Given the description of an element on the screen output the (x, y) to click on. 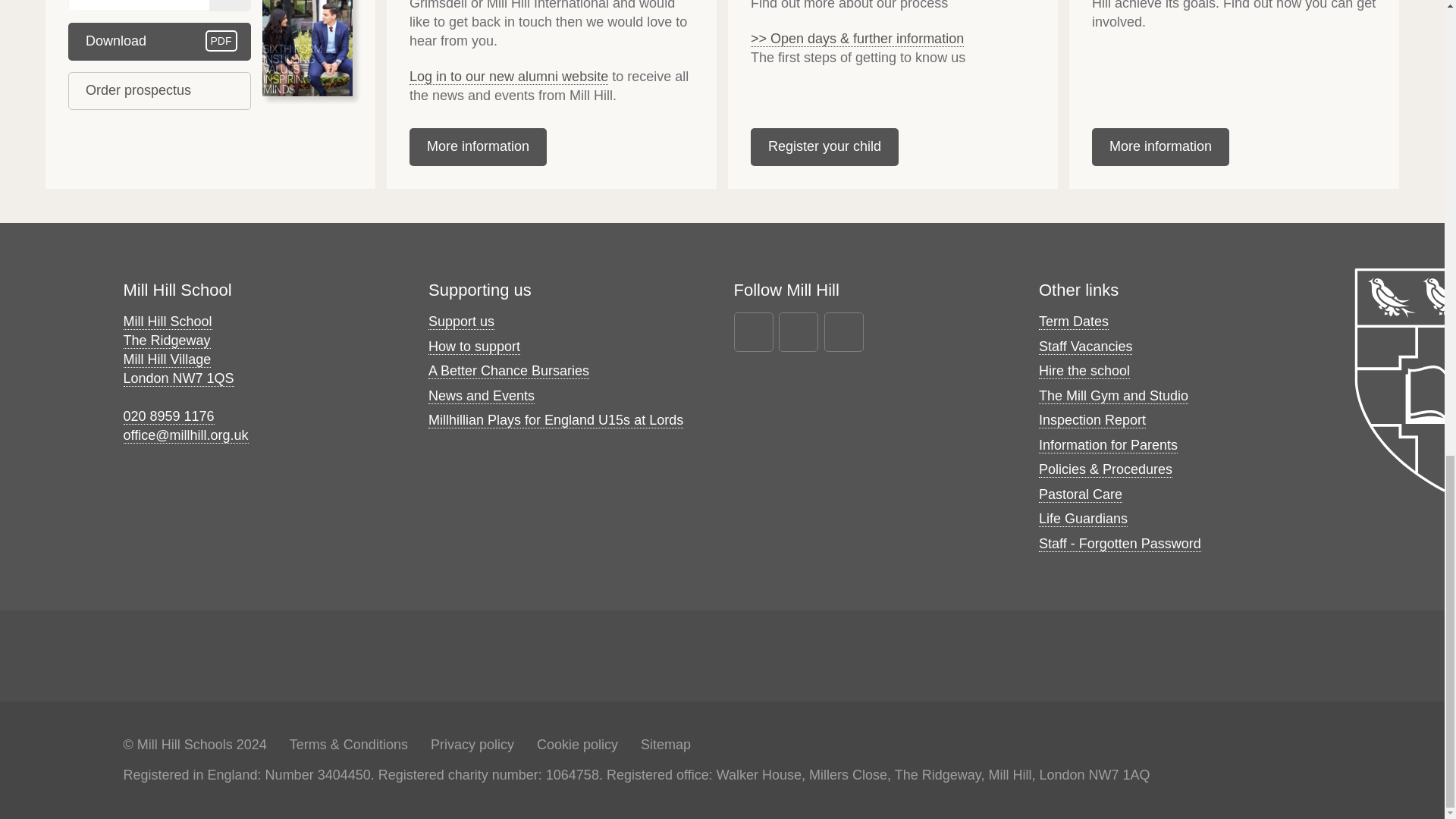
More information (478, 146)
More information (1160, 146)
Log in to our new alumni website (508, 76)
Order prospectus (159, 41)
Register your child (159, 90)
